Given the description of an element on the screen output the (x, y) to click on. 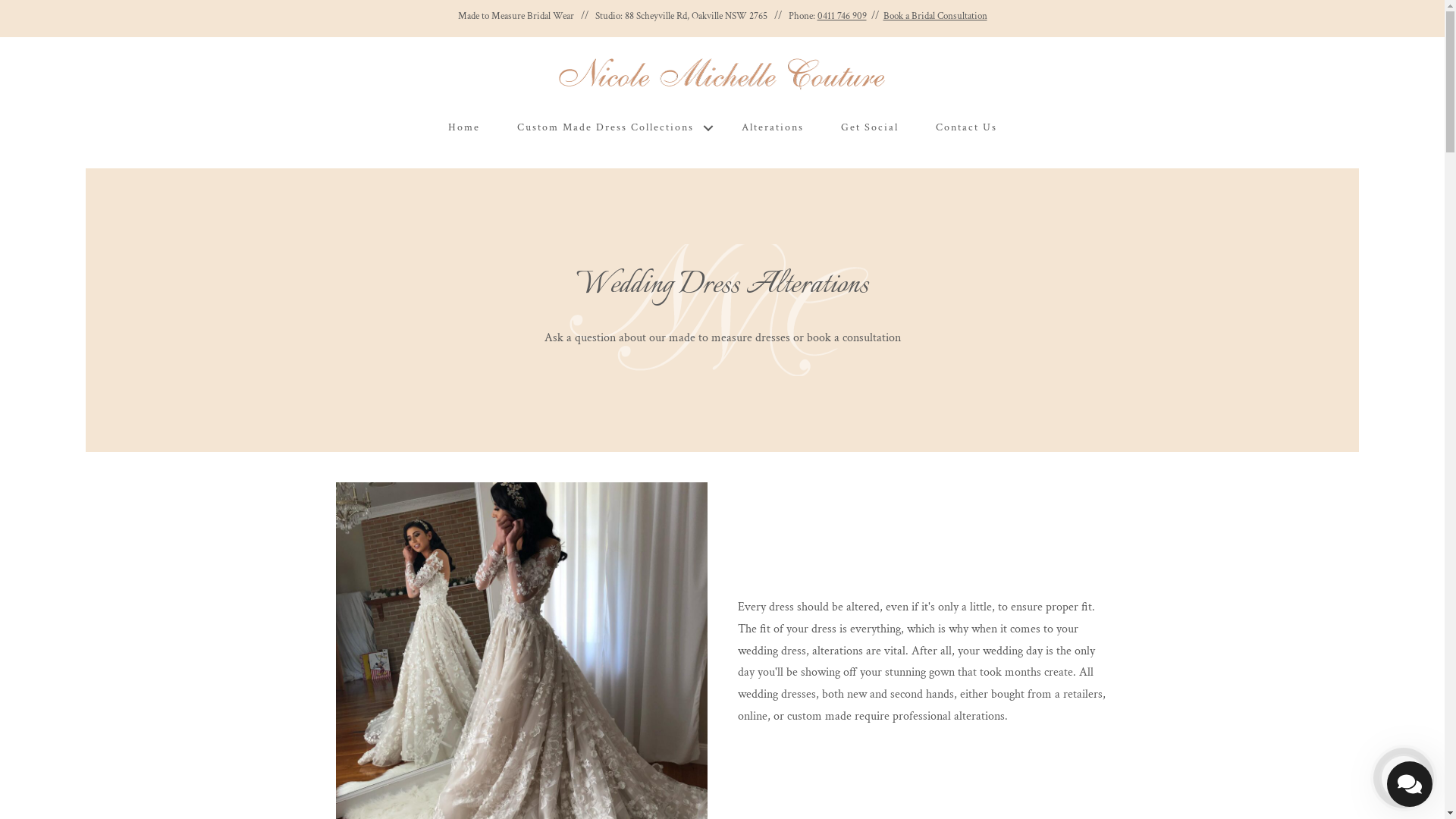
Home Element type: text (463, 127)
nmc-logo-pink Element type: hover (722, 73)
Contact Us Element type: text (966, 127)
Custom Made Dress Collections Element type: text (610, 127)
Book a Bridal Consultation Element type: text (934, 15)
Get Social Element type: text (869, 127)
Alterations Element type: text (772, 127)
0411 746 909 Element type: text (841, 15)
